Given the description of an element on the screen output the (x, y) to click on. 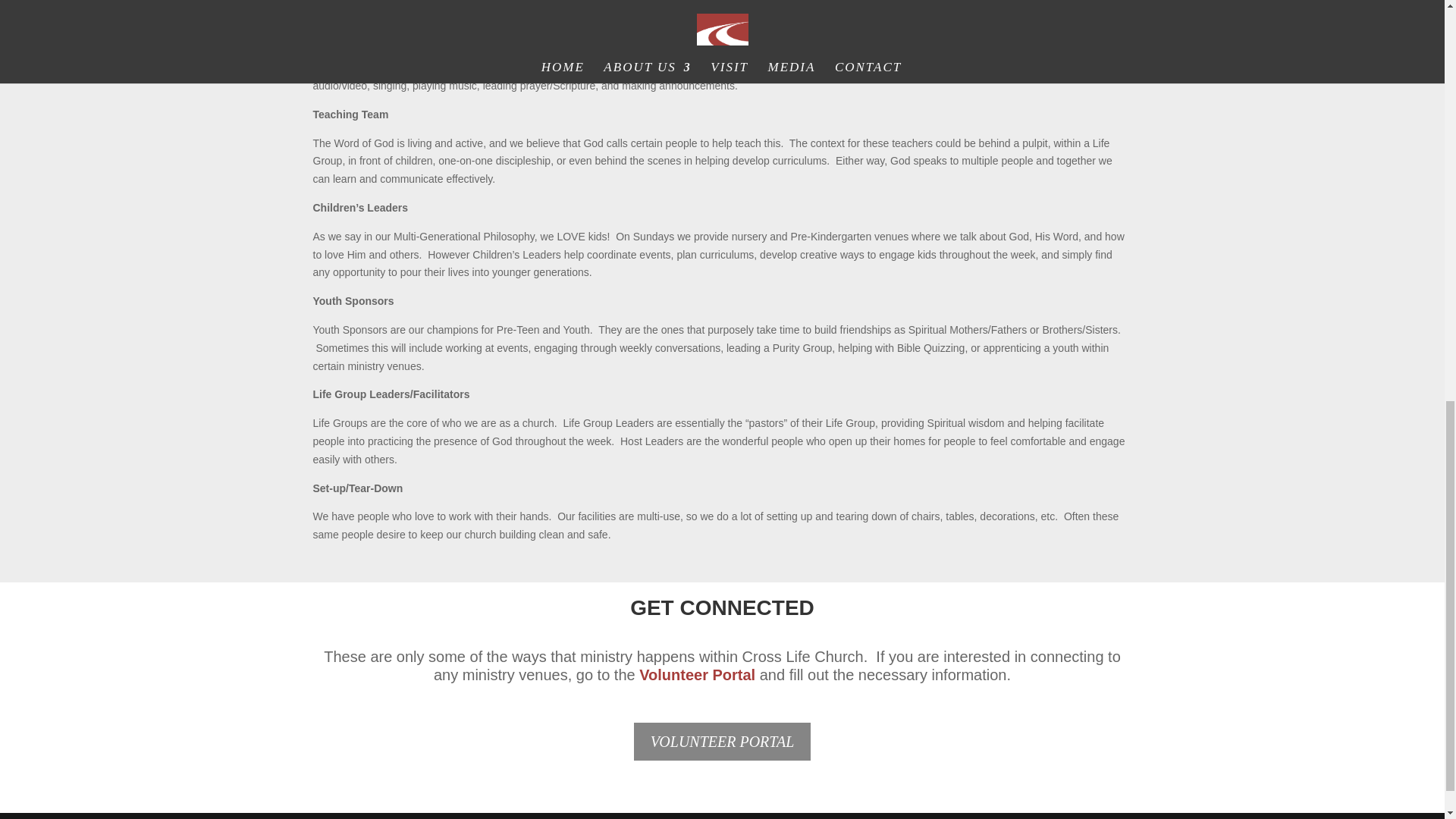
Volunteer Portal (697, 674)
VOLUNTEER PORTAL (721, 741)
